Given the description of an element on the screen output the (x, y) to click on. 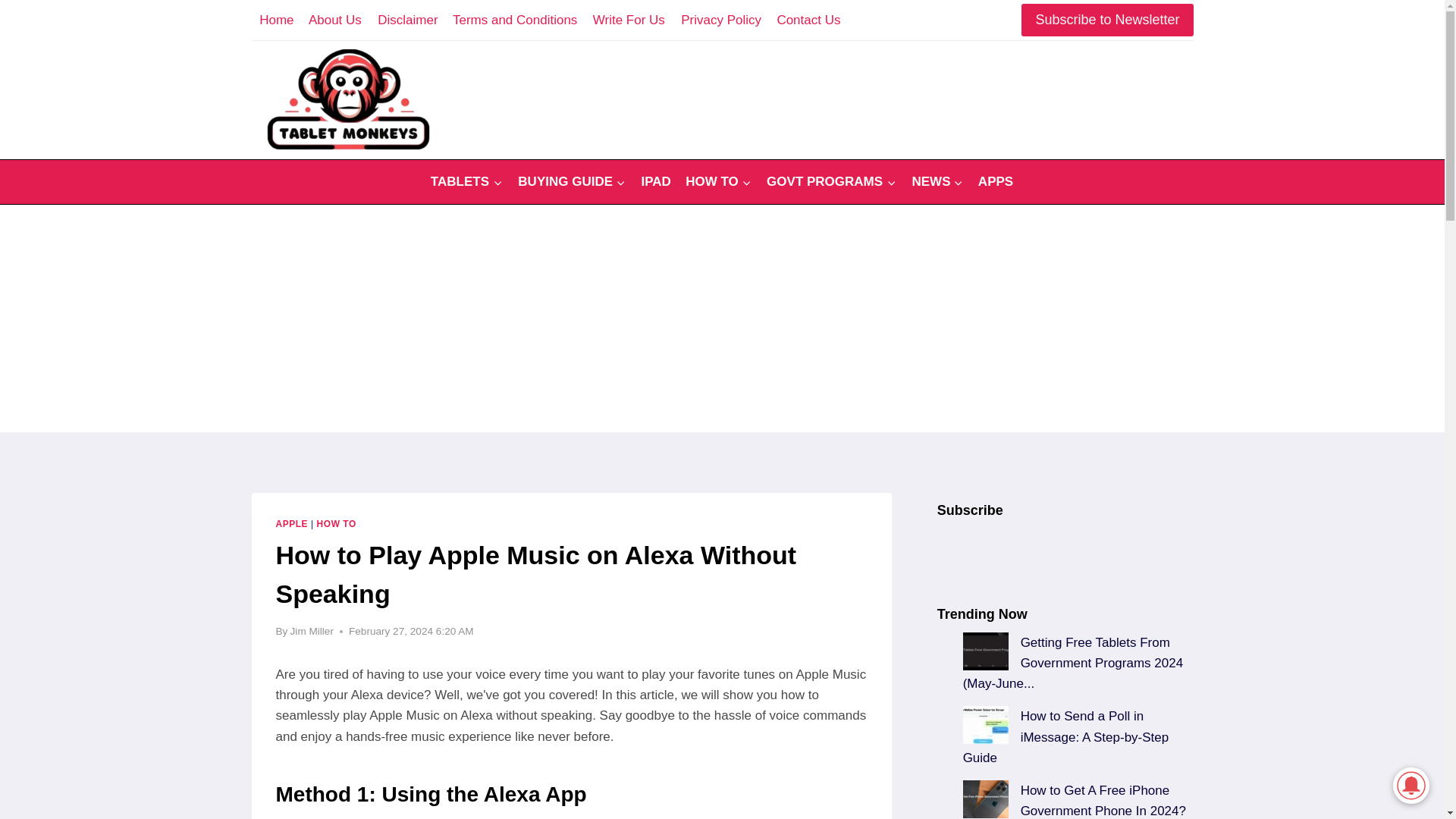
NEWS (937, 181)
Write For Us (628, 19)
Disclaimer (407, 19)
HOW TO (718, 181)
Jim Miller (311, 631)
IPAD (655, 181)
Privacy Policy (720, 19)
BUYING GUIDE (572, 181)
Terms and Conditions (515, 19)
HOW TO (336, 523)
Contact Us (807, 19)
APPLE (292, 523)
TABLETS (467, 181)
APPS (996, 181)
